Given the description of an element on the screen output the (x, y) to click on. 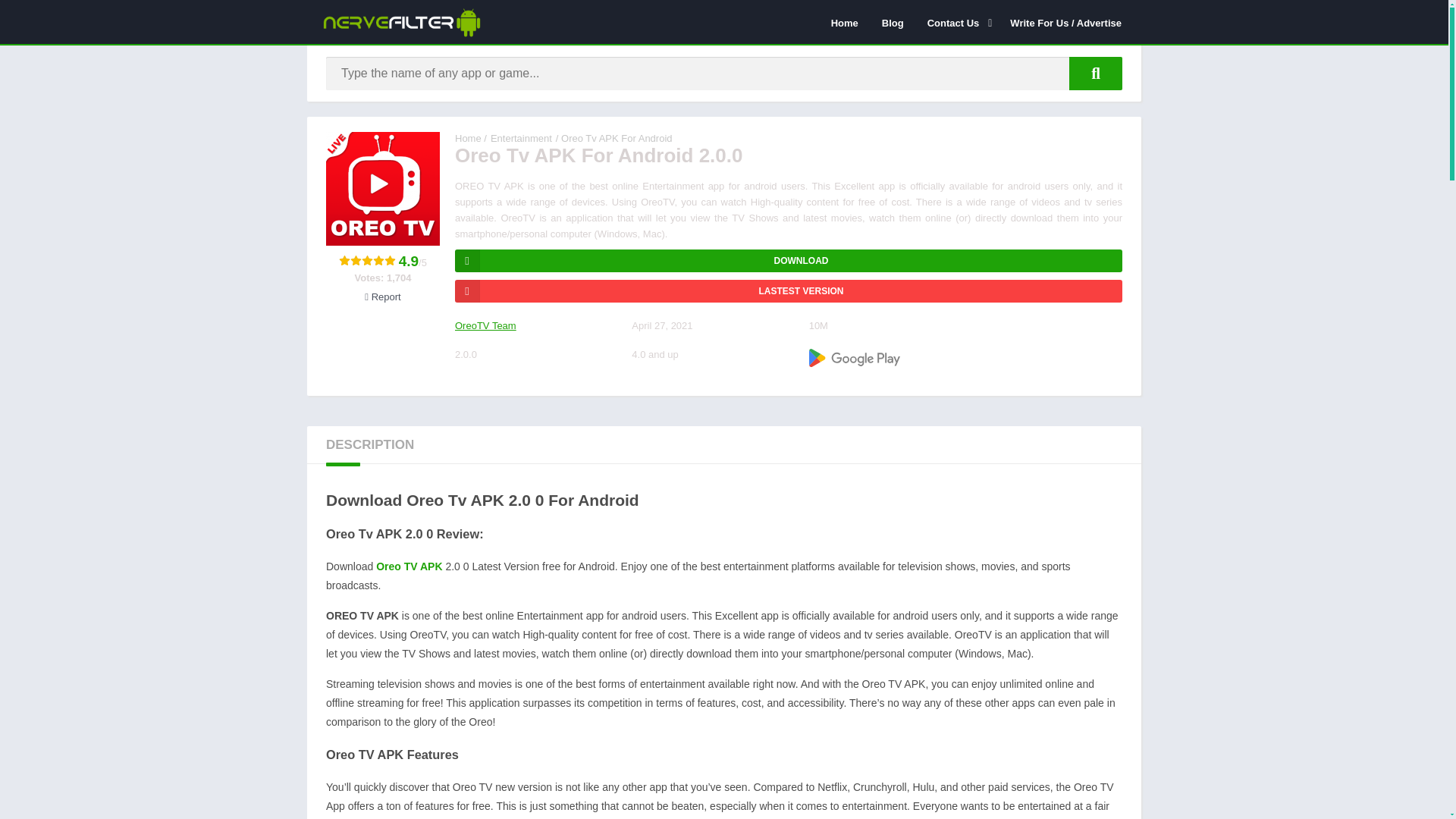
DOWNLOAD (788, 260)
Home (844, 22)
OreoTV Team (485, 325)
LASTEST VERSION (788, 291)
NerveFilter: Download APK Apps and Games MODs (467, 138)
Type the name of any app or game... (1095, 73)
Download (788, 260)
Lastest version (788, 291)
Home (467, 138)
Oreo TV APK (410, 566)
Entertainment (520, 138)
Blog (892, 22)
Contact Us (956, 22)
